Given the description of an element on the screen output the (x, y) to click on. 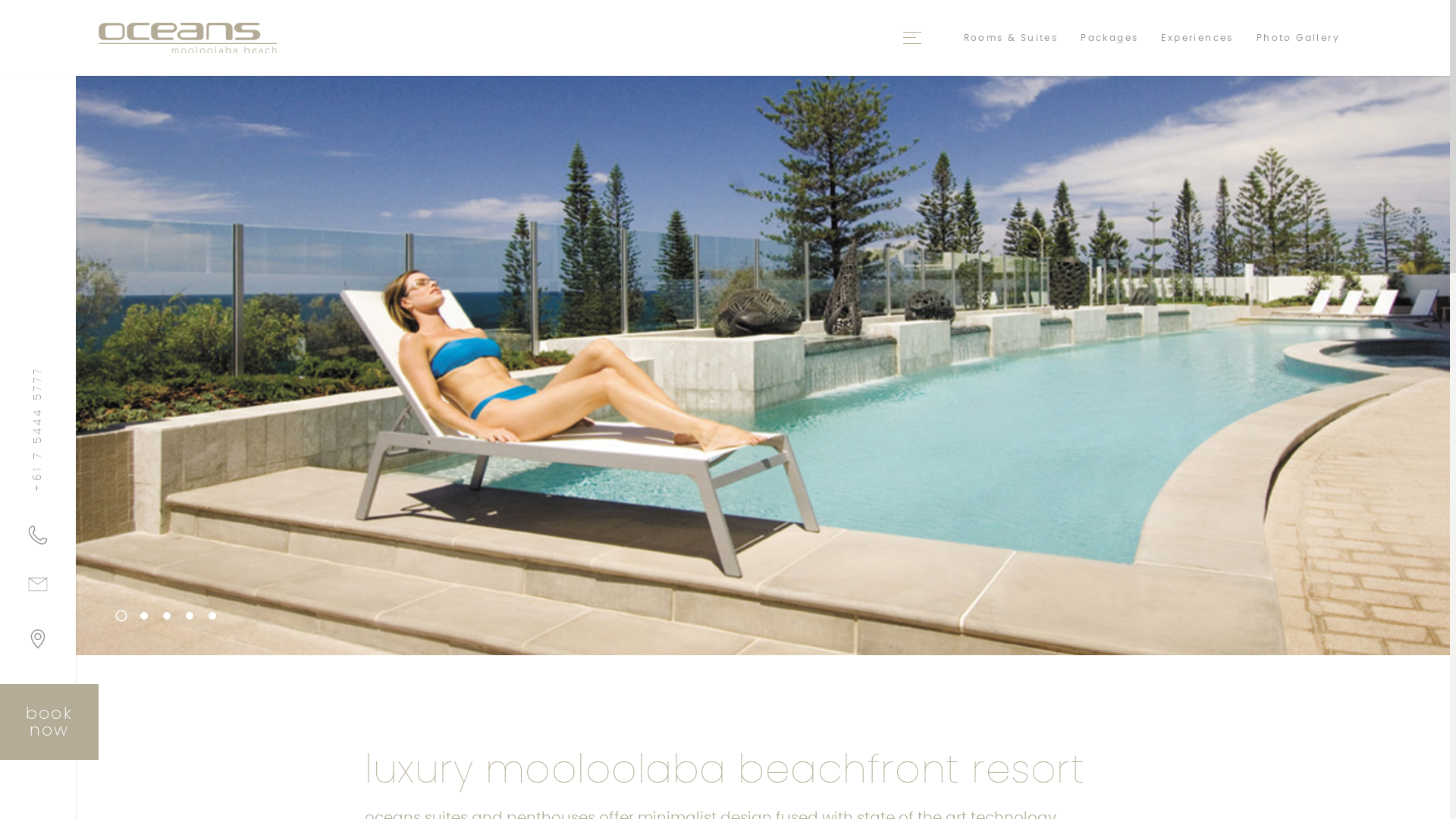
2 Element type: text (143, 615)
+61 7 5444 5777 Element type: text (37, 534)
Oceans Mooloolaba Resort Element type: hover (187, 37)
1 Element type: text (118, 613)
Experiences Element type: text (1196, 37)
Email Us Element type: hover (37, 589)
5 Element type: text (212, 615)
Rooms & Suites Element type: text (1011, 37)
Packages Element type: text (1109, 37)
Find Us Element type: hover (37, 644)
Photo Gallery Element type: text (1298, 37)
book now Element type: text (49, 721)
3 Element type: text (166, 615)
4 Element type: text (189, 615)
